Given the description of an element on the screen output the (x, y) to click on. 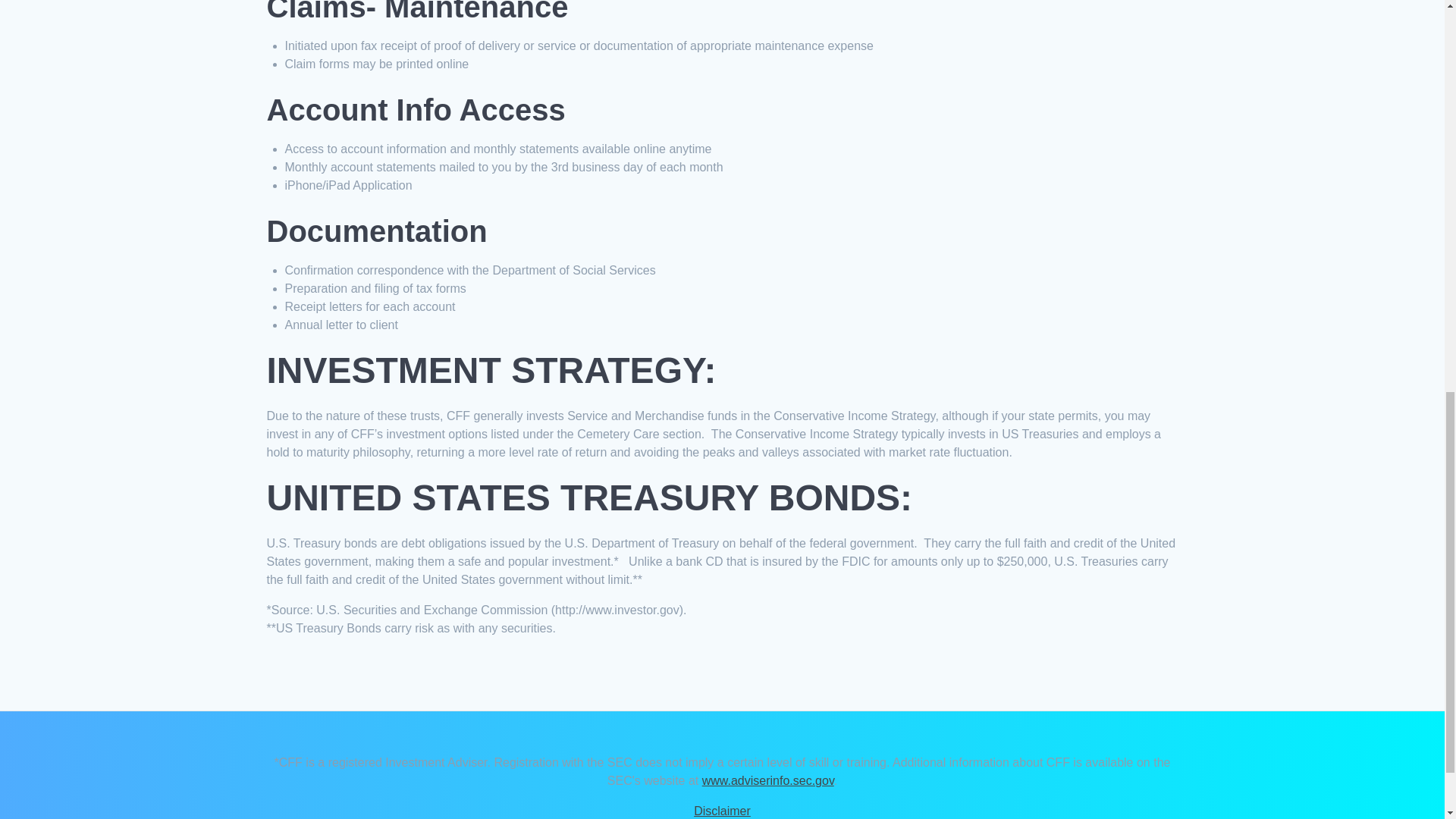
www.adviserinfo.sec.gov (767, 780)
Disclaimer (722, 810)
